Given the description of an element on the screen output the (x, y) to click on. 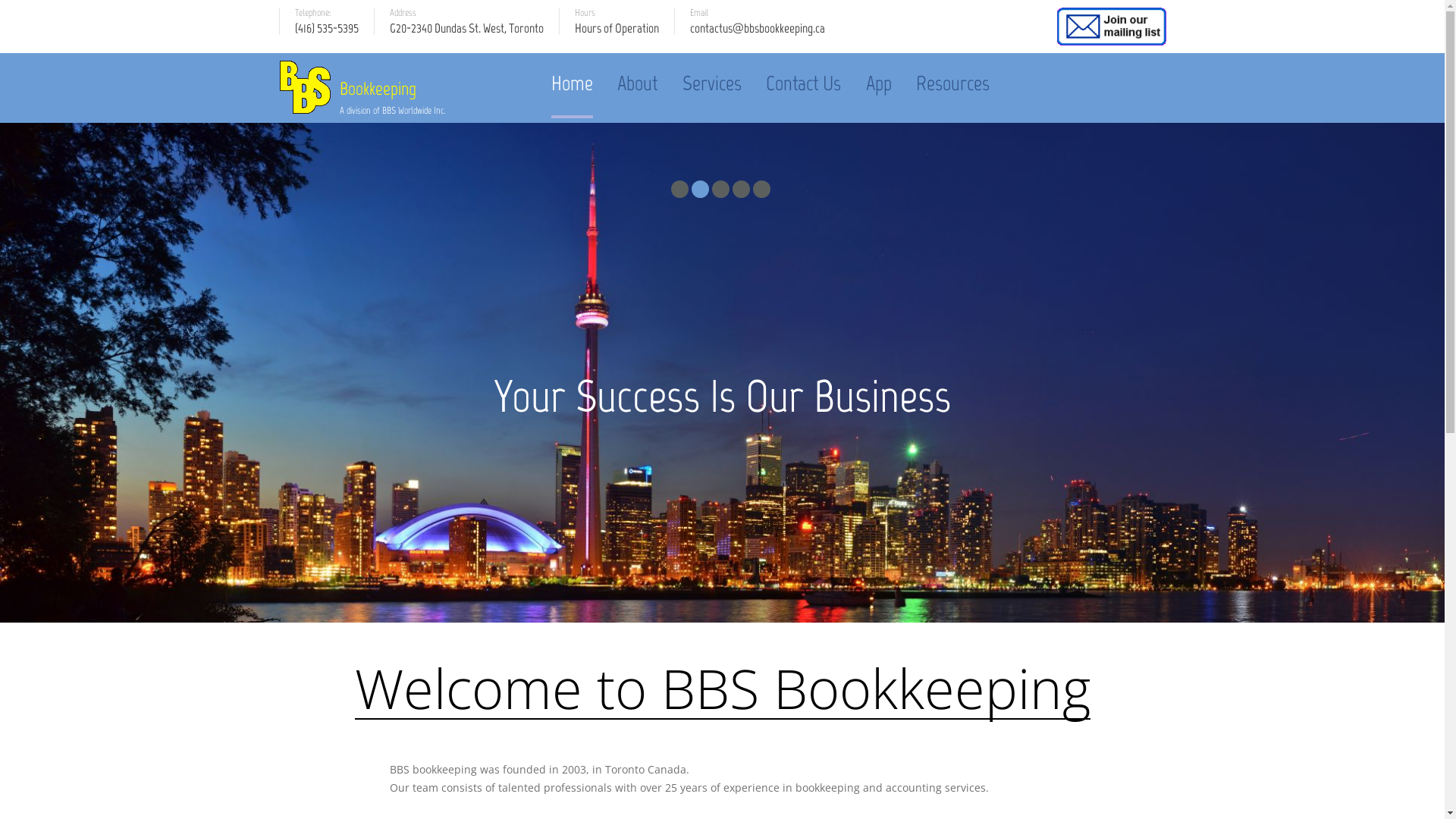
About Element type: text (637, 82)
Resources Element type: text (952, 82)
G20-2340 Dundas St. West, Toronto Element type: text (466, 33)
Contact Us Element type: text (802, 82)
Services Element type: text (711, 82)
Hours of Operation Element type: text (616, 33)
App Element type: text (878, 82)
contactus@bbsbookkeeping.ca Element type: text (757, 33)
Bookkeeping Element type: text (392, 88)
(416) 535-5395 Element type: text (325, 33)
Home Element type: text (572, 82)
